Given the description of an element on the screen output the (x, y) to click on. 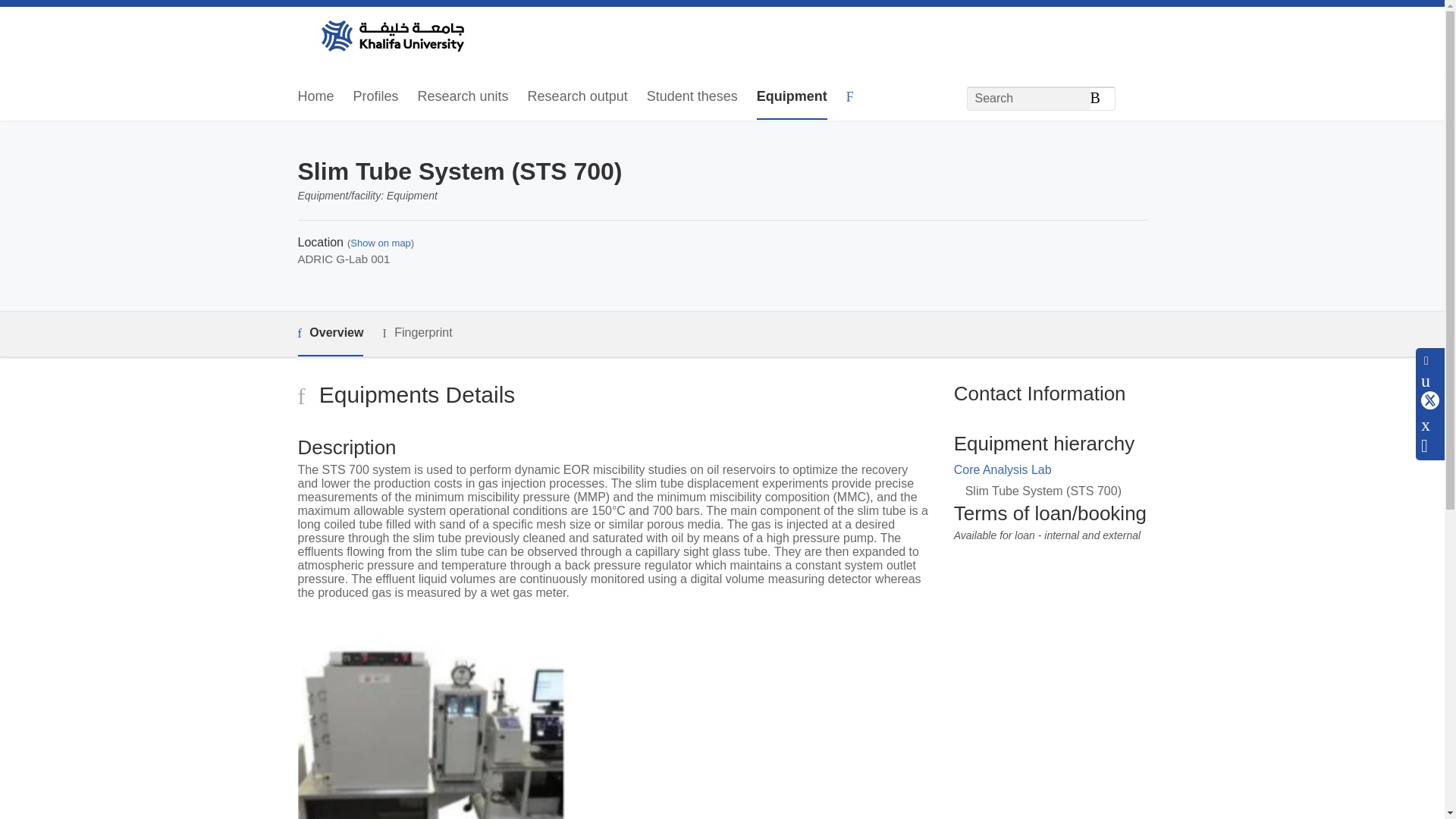
Research units (462, 97)
Show on map (380, 242)
Core Analysis Lab (1002, 469)
Khalifa University Home (391, 37)
Overview (329, 334)
Research output (577, 97)
Equipment (792, 97)
Profiles (375, 97)
Student theses (692, 97)
Fingerprint (416, 333)
